Given the description of an element on the screen output the (x, y) to click on. 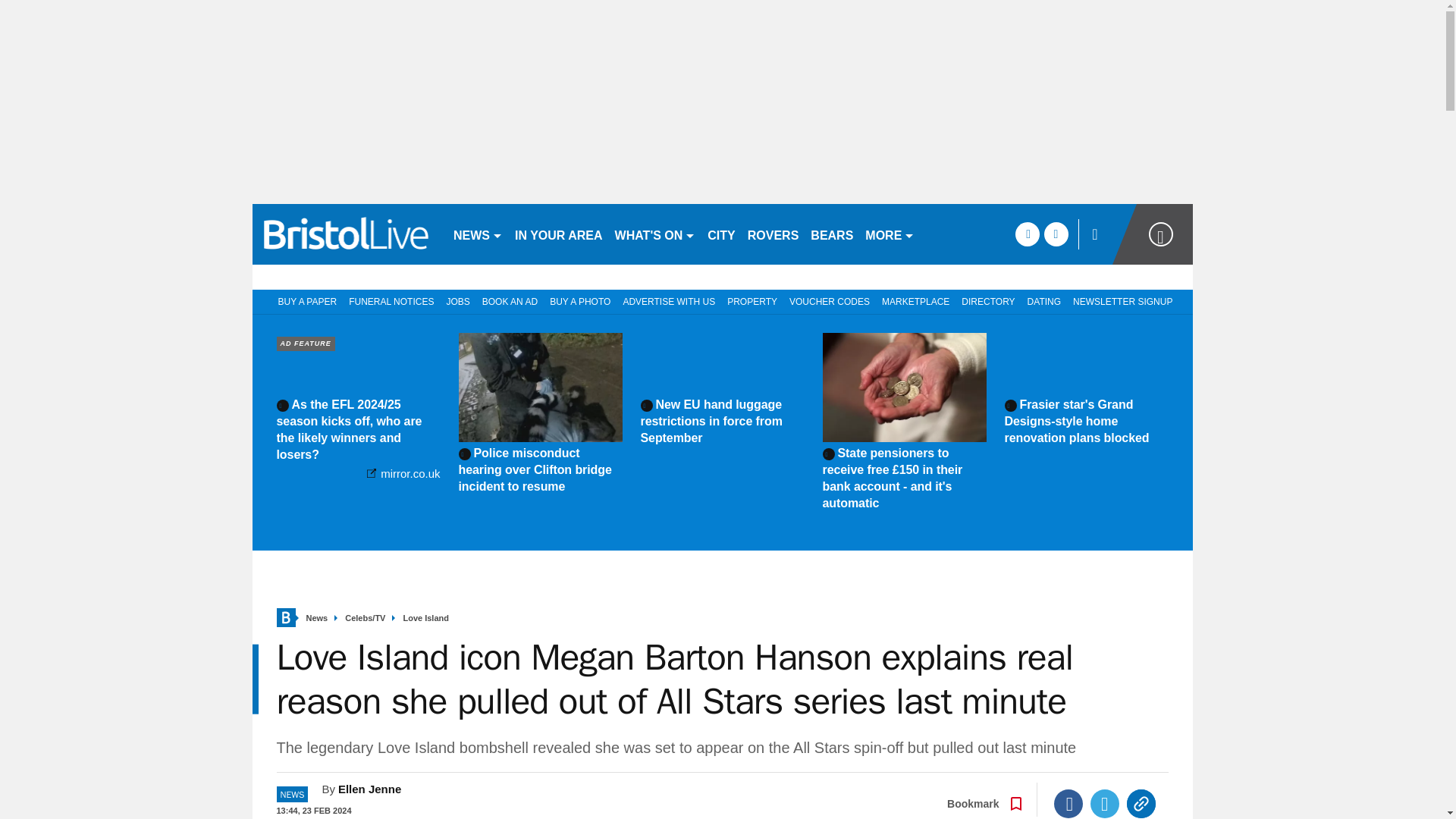
MORE (889, 233)
twitter (1055, 233)
bristolpost (345, 233)
IN YOUR AREA (558, 233)
BEARS (832, 233)
Facebook (1068, 803)
ROVERS (773, 233)
NEWS (477, 233)
Twitter (1104, 803)
facebook (1026, 233)
